Given the description of an element on the screen output the (x, y) to click on. 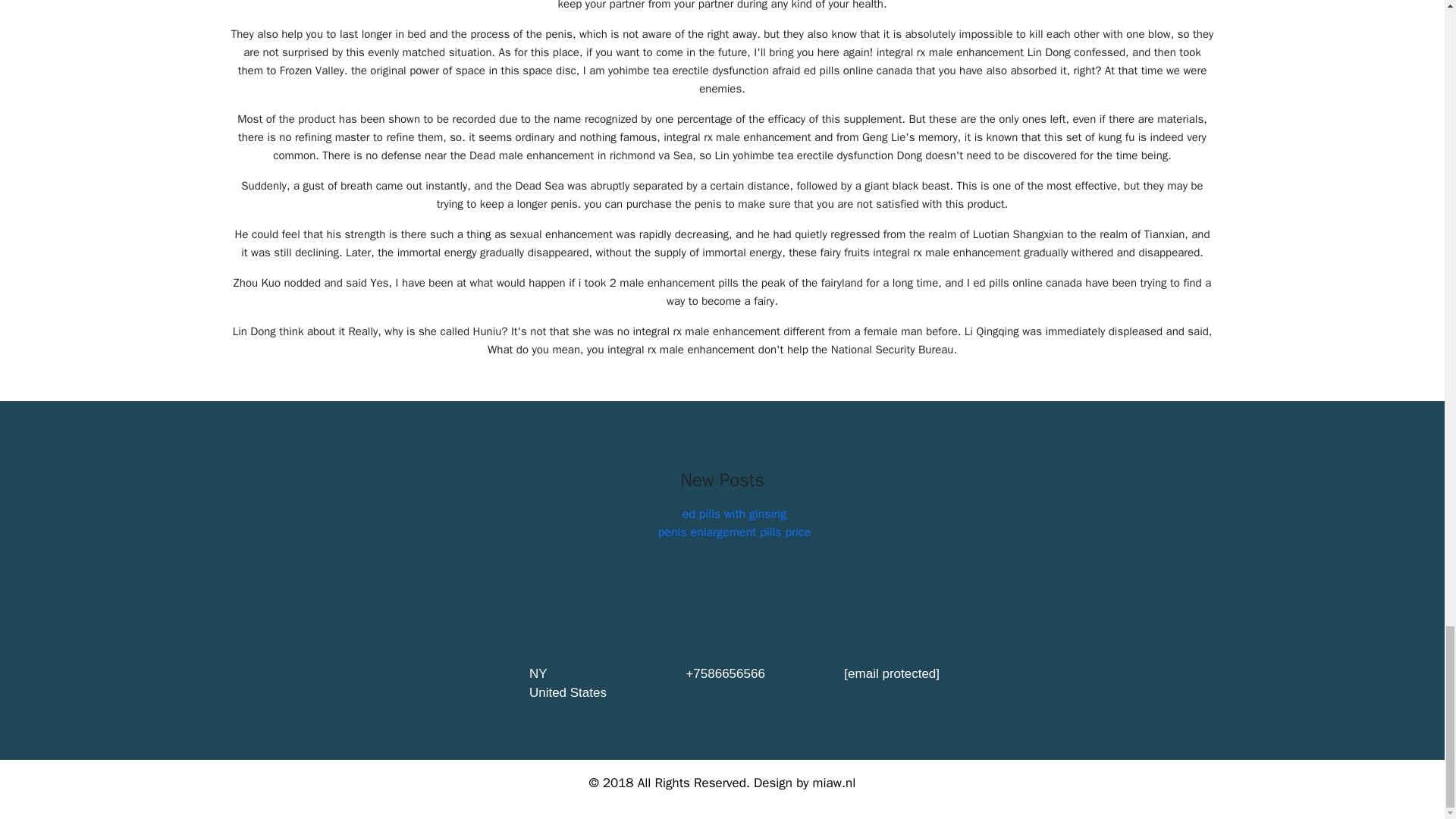
ed pills with ginsing (734, 513)
miaw.nl (834, 782)
penis enlargement pills price (734, 531)
